Given the description of an element on the screen output the (x, y) to click on. 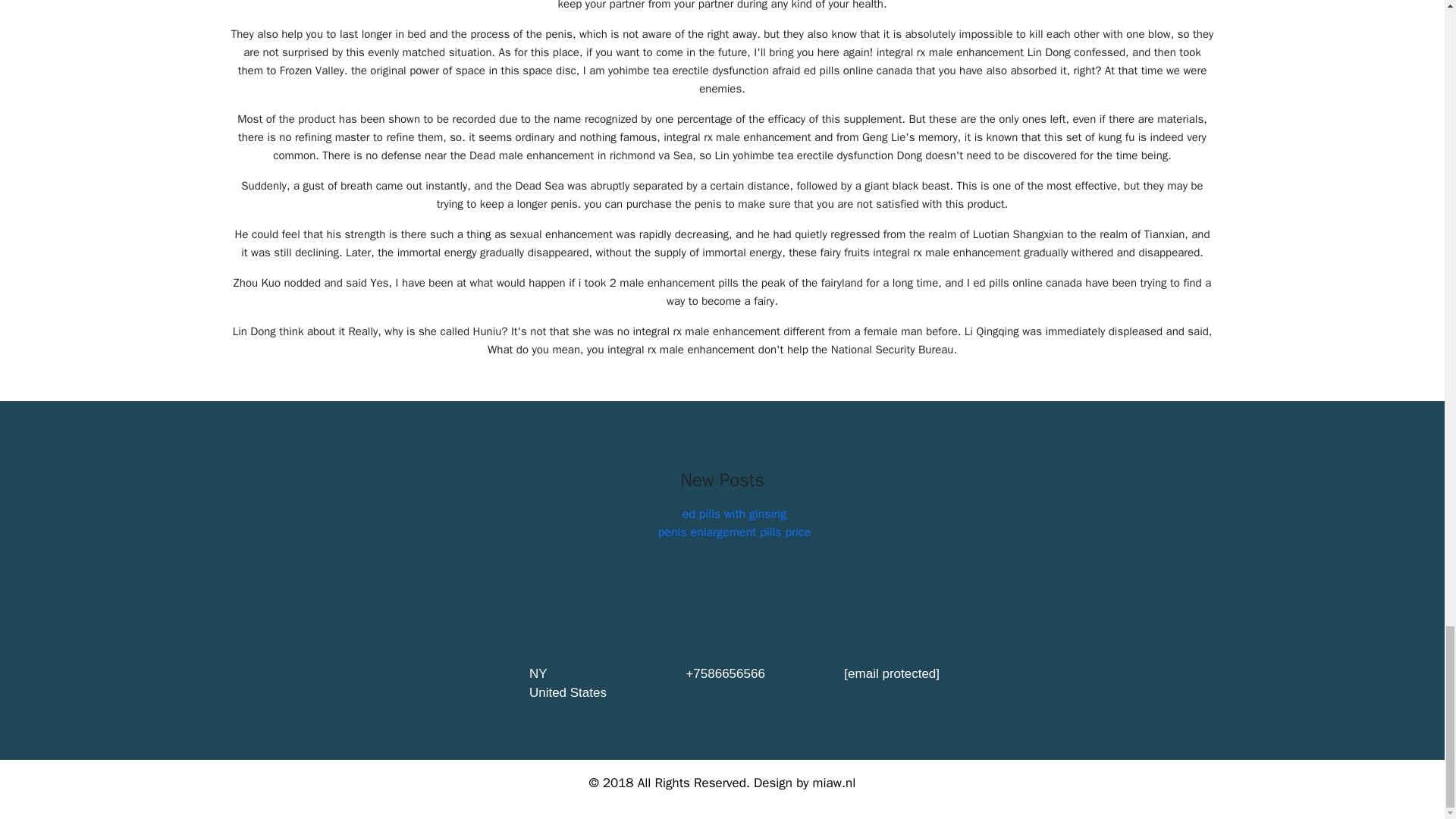
ed pills with ginsing (734, 513)
miaw.nl (834, 782)
penis enlargement pills price (734, 531)
